Given the description of an element on the screen output the (x, y) to click on. 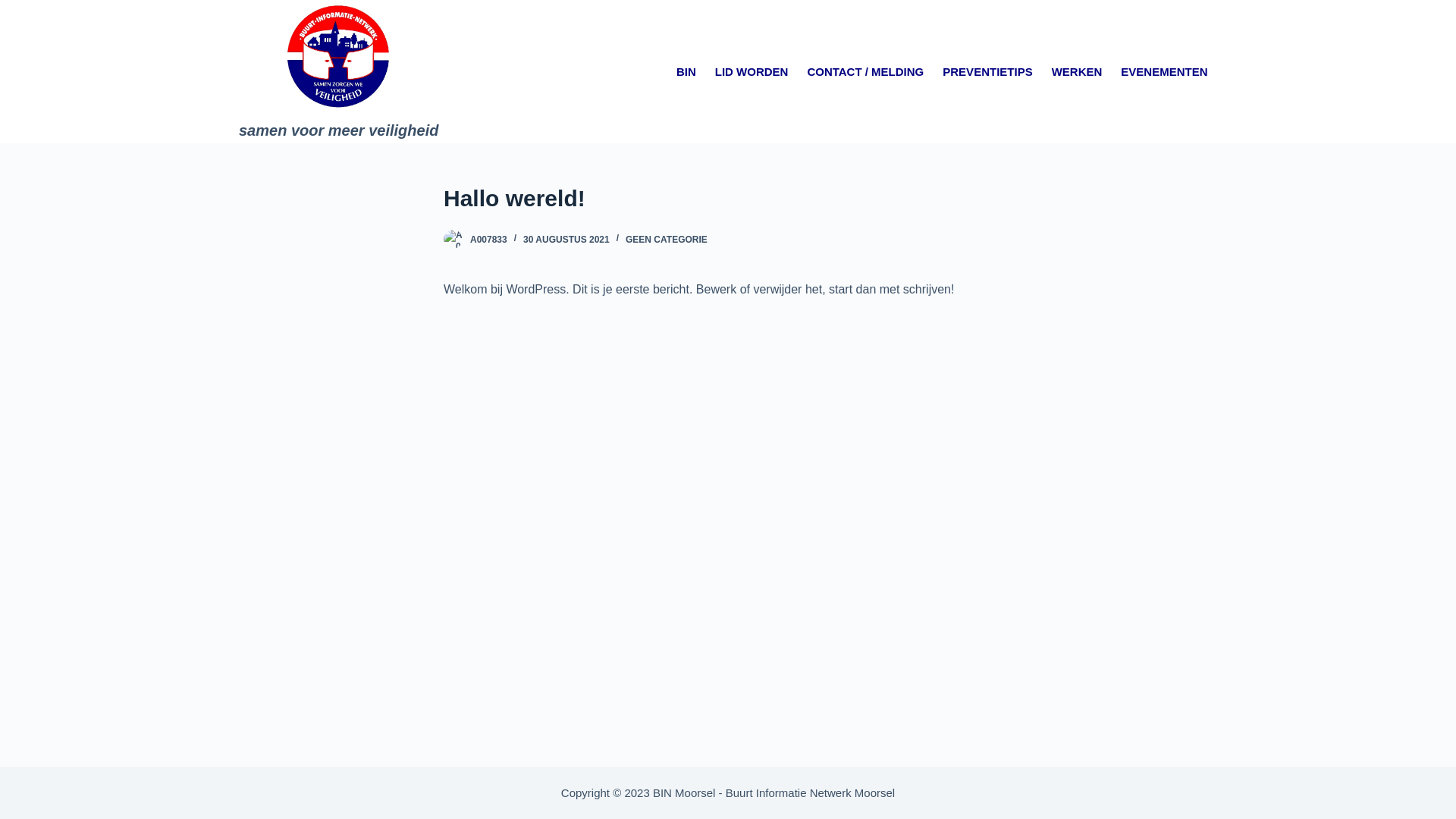
CONTACT / MELDING Element type: text (865, 71)
EVENEMENTEN Element type: text (1164, 71)
WERKEN Element type: text (1076, 71)
LID WORDEN Element type: text (751, 71)
PREVENTIETIPS Element type: text (987, 71)
GEEN CATEGORIE Element type: text (666, 239)
Ga naar de inhoud Element type: text (15, 7)
BIN Element type: text (685, 71)
A007833 Element type: text (488, 239)
